Given the description of an element on the screen output the (x, y) to click on. 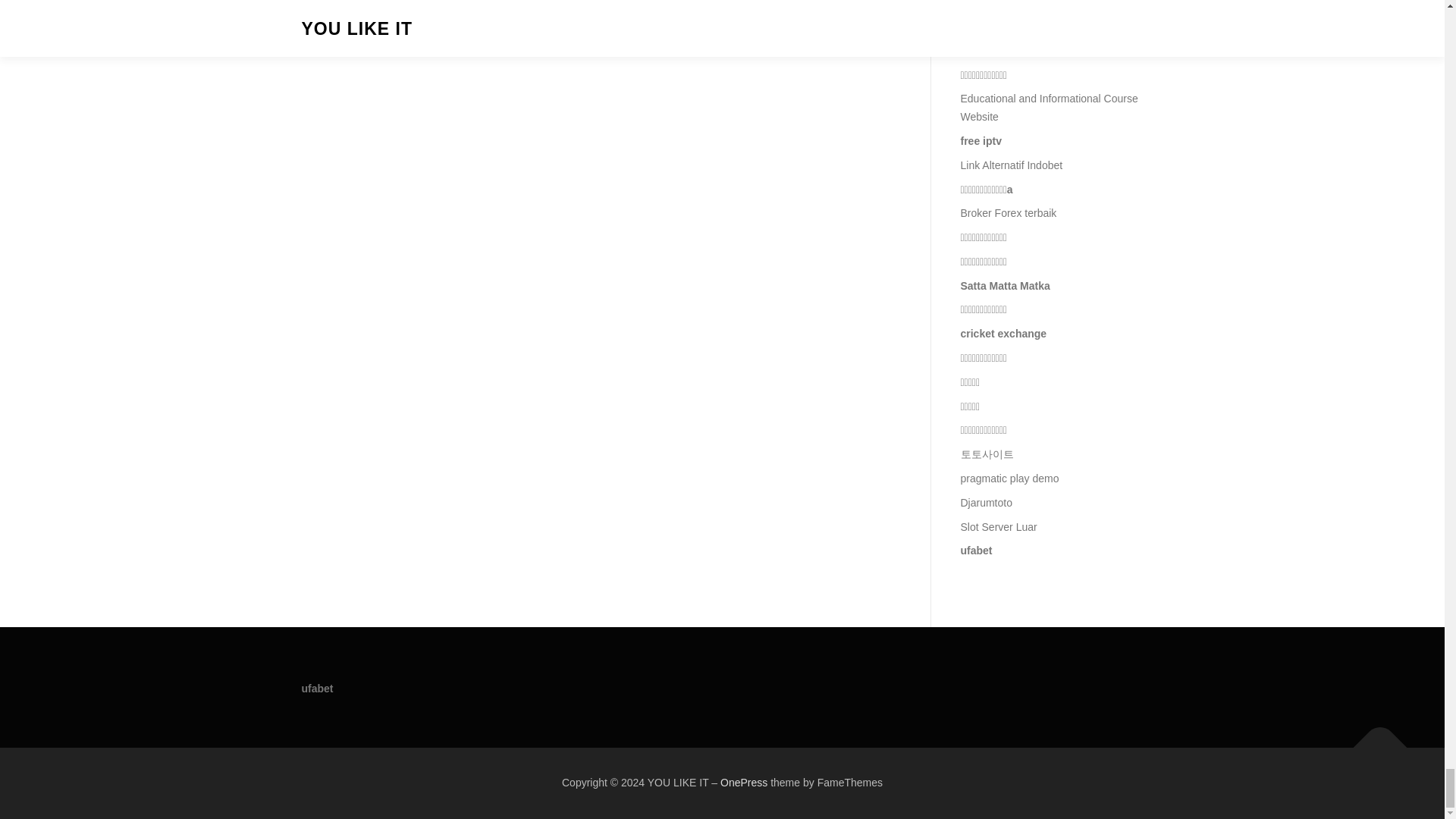
Back To Top (1372, 740)
